Given the description of an element on the screen output the (x, y) to click on. 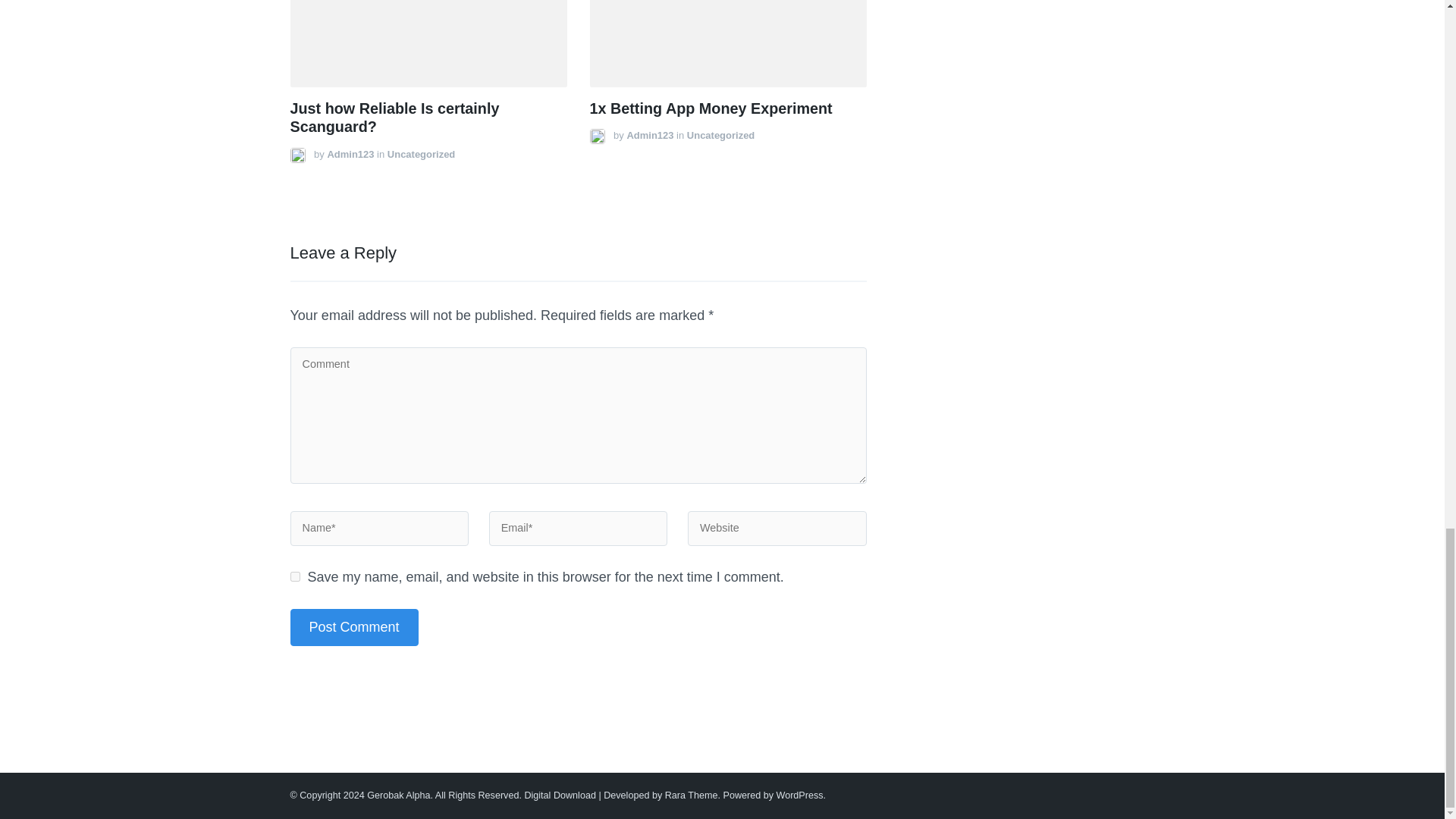
Just how Reliable Is certainly Scanguard? (394, 117)
Post Comment (353, 627)
Admin123 (350, 153)
Rara Theme (691, 795)
Gerobak Alpha (397, 795)
Uncategorized (420, 153)
Post Comment (353, 627)
Uncategorized (720, 134)
yes (294, 576)
1x Betting App Money Experiment (710, 108)
WordPress (800, 795)
Admin123 (649, 134)
